Given the description of an element on the screen output the (x, y) to click on. 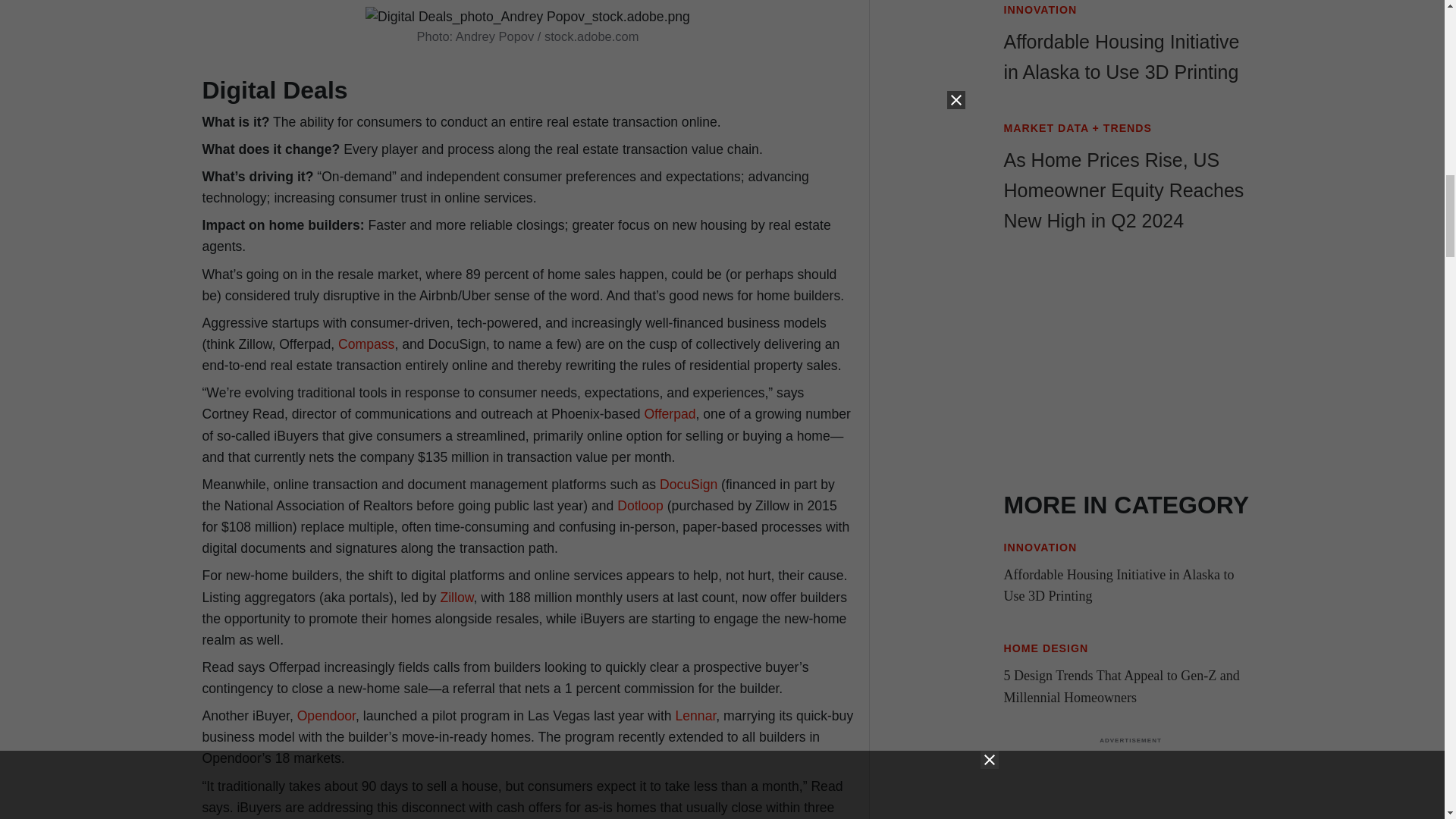
Dotloop (640, 505)
Offerpad (669, 413)
DocuSign (688, 484)
Compass (365, 344)
3rd party ad content (1130, 782)
3rd party ad content (1130, 372)
